Given the description of an element on the screen output the (x, y) to click on. 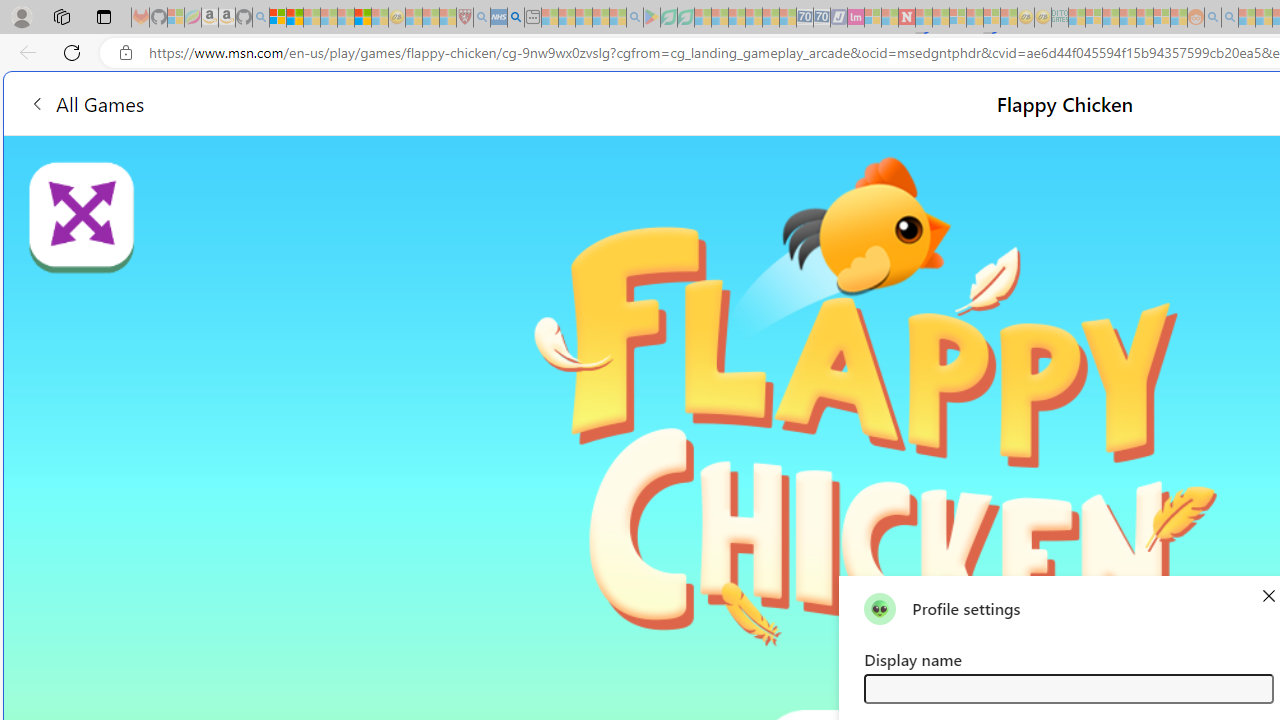
Microsoft Start - Sleeping (1247, 17)
utah sues federal government - Search (515, 17)
Latest Politics News & Archive | Newsweek.com - Sleeping (906, 17)
Bluey: Let's Play! - Apps on Google Play - Sleeping (651, 17)
google - Search - Sleeping (634, 17)
Expert Portfolios - Sleeping (1128, 17)
All Games (373, 102)
Class: text-input (1068, 688)
